Given the description of an element on the screen output the (x, y) to click on. 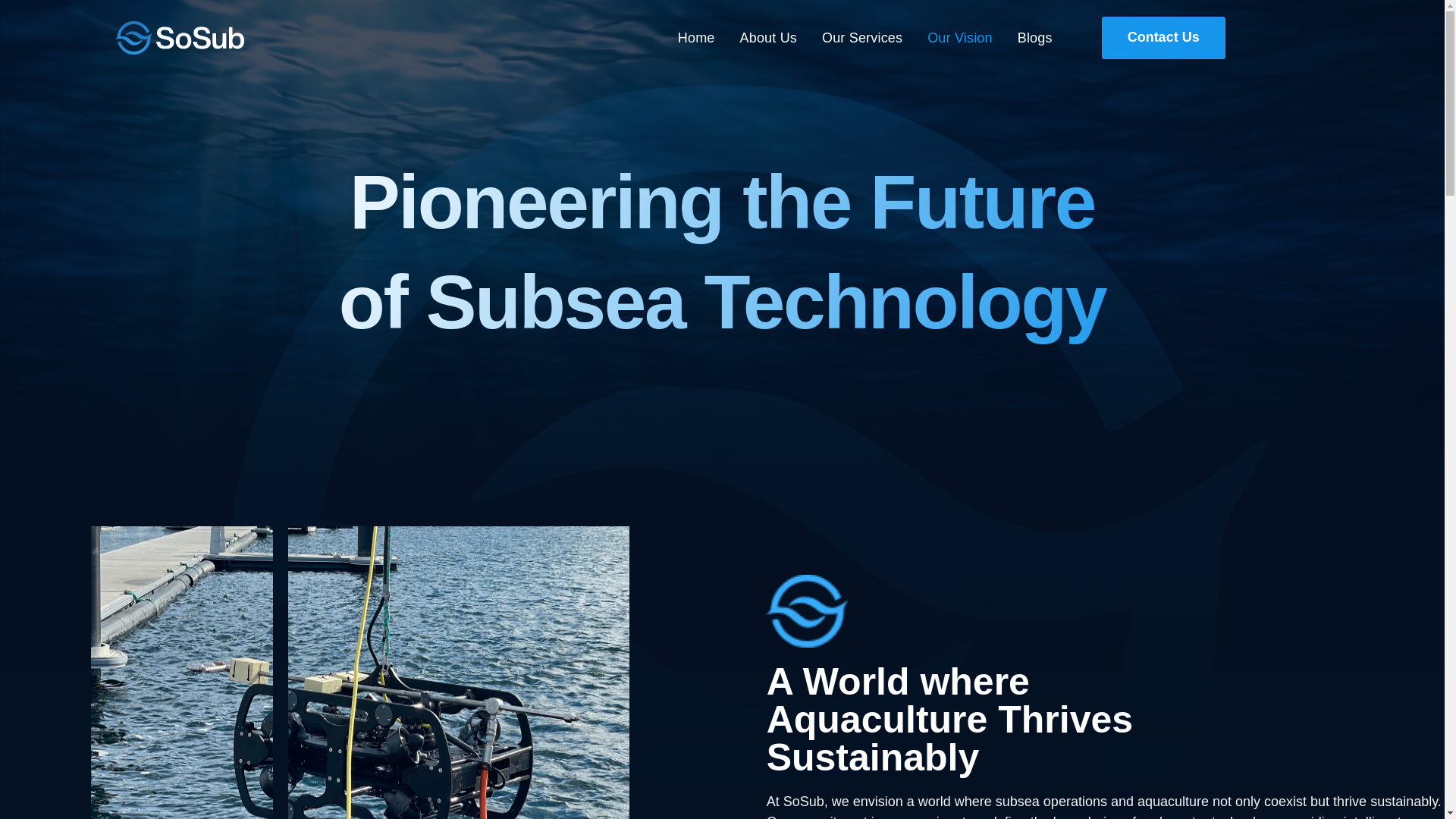
Our Services (862, 38)
About Us (767, 38)
Home (696, 38)
Contact Us (1163, 37)
Our Vision (959, 38)
Blogs (1034, 38)
